Given the description of an element on the screen output the (x, y) to click on. 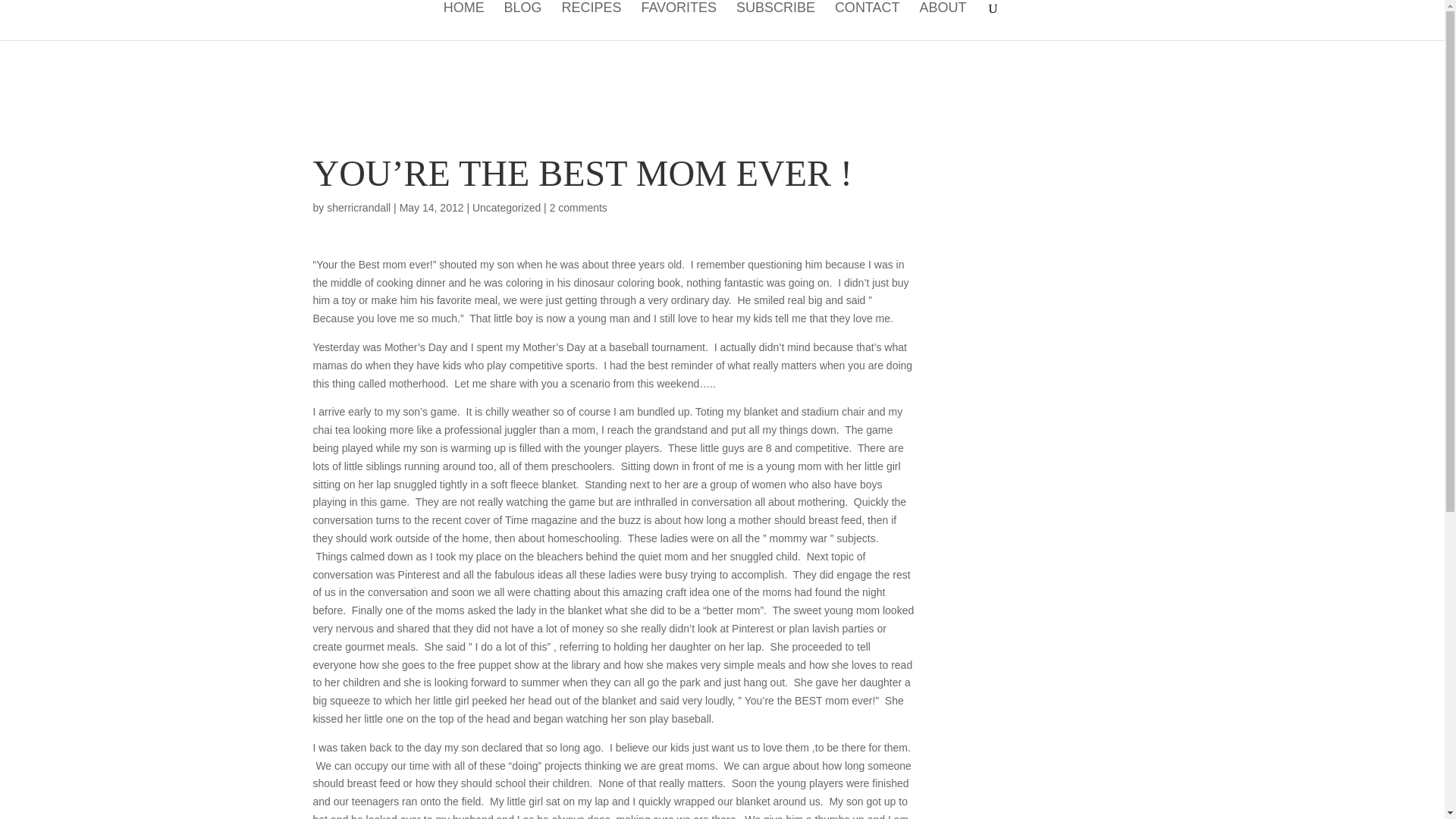
ABOUT (942, 21)
sherricrandall (358, 207)
RECIPES (590, 21)
CONTACT (866, 21)
BLOG (522, 21)
SUBSCRIBE (775, 21)
2 comments (578, 207)
Posts by sherricrandall (358, 207)
Uncategorized (505, 207)
FAVORITES (678, 21)
